Given the description of an element on the screen output the (x, y) to click on. 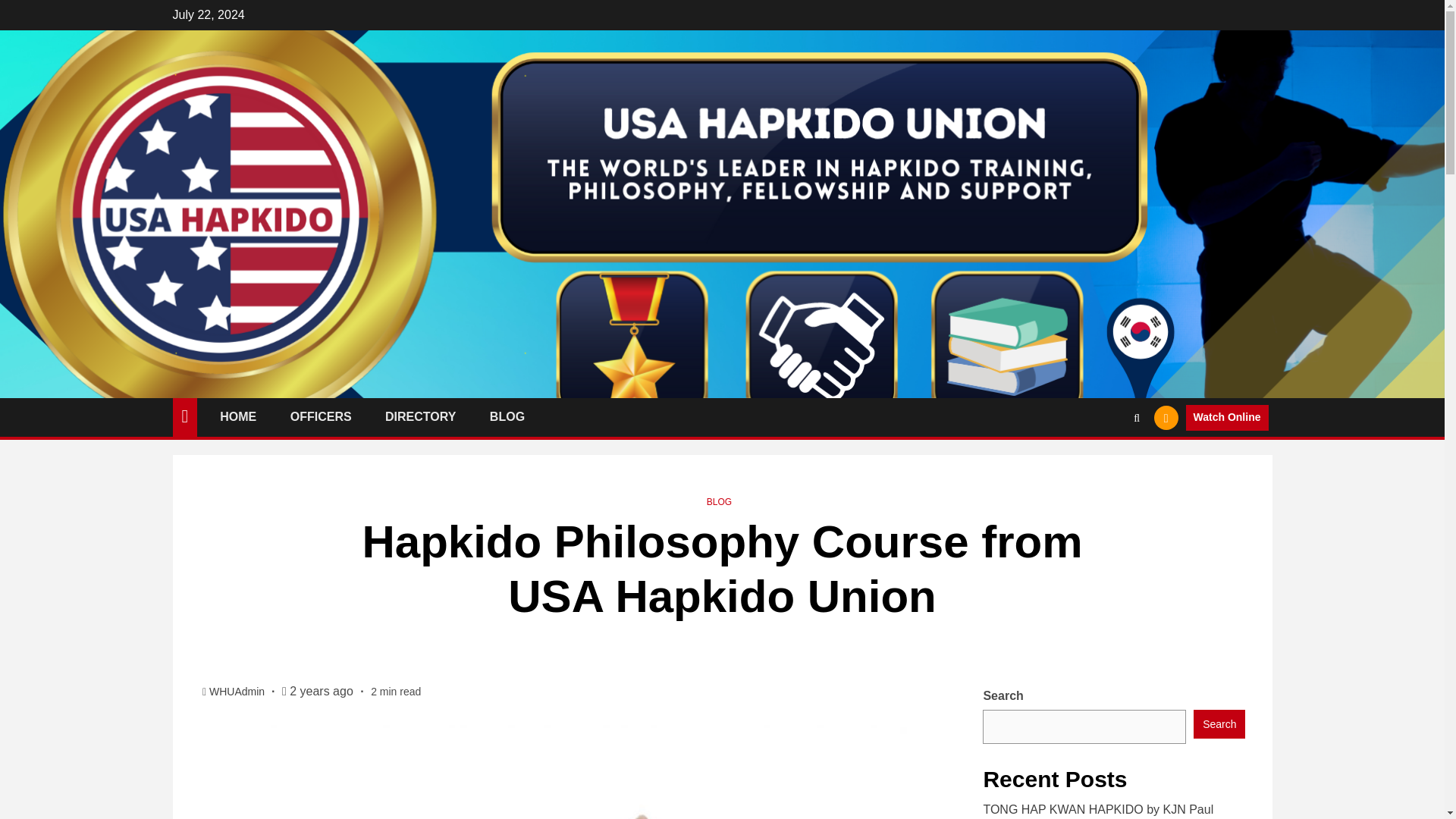
Search (1218, 724)
BLOG (719, 501)
OFFICERS (320, 416)
WHUAdmin (238, 691)
DIRECTORY (420, 416)
Watch Online (1227, 417)
Search (1106, 463)
HOME (237, 416)
BLOG (506, 416)
